Given the description of an element on the screen output the (x, y) to click on. 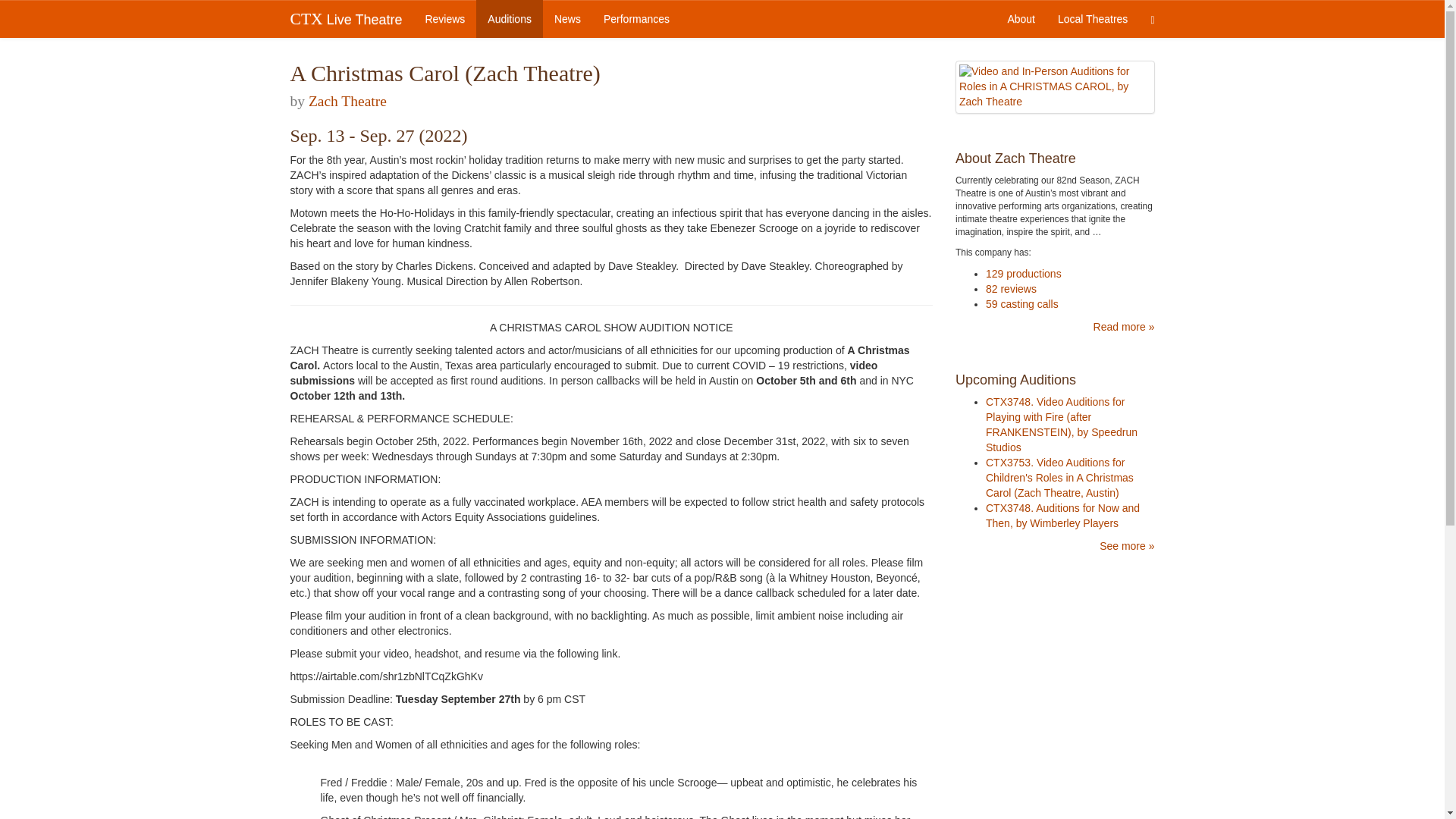
82 reviews (1010, 288)
Local Theatres (1092, 18)
News (567, 18)
129 productions (1023, 273)
About (1020, 18)
59 casting calls (1021, 304)
Zach Theatre (347, 100)
Reviews (444, 18)
Auditions (509, 18)
CTX3748. Auditions for Now and Then, by Wimberley Players (1062, 515)
CTX Live Theatre (346, 18)
Performances (636, 18)
